Given the description of an element on the screen output the (x, y) to click on. 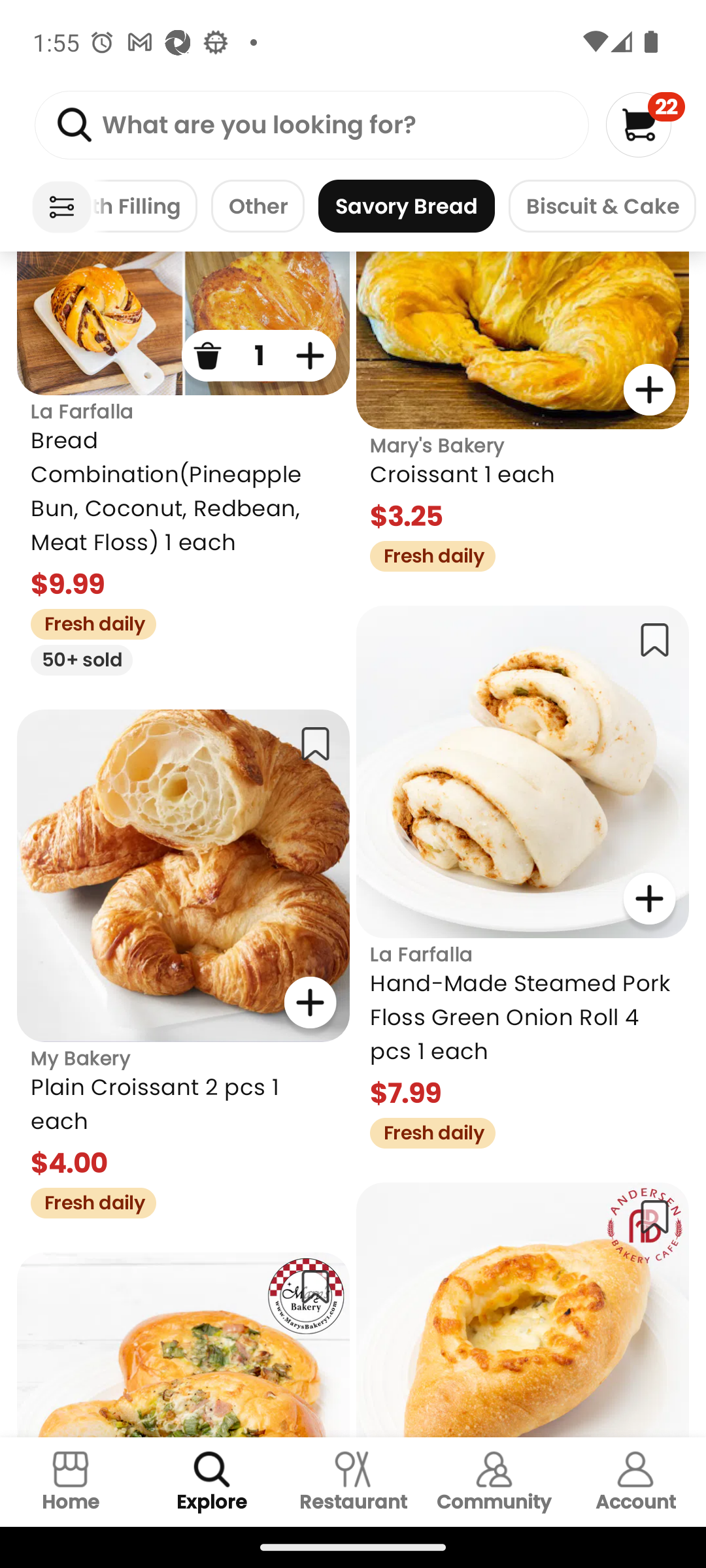
What are you looking for? (311, 124)
22 (644, 124)
With Filling (144, 206)
Other (257, 206)
Savory Bread (406, 206)
Biscuit & Cake (602, 206)
Mary's Bakery Croissant 1 each $3.25 Fresh daily (522, 411)
Fresh daily (425, 554)
Fresh daily (86, 621)
Fresh daily (425, 1130)
Fresh daily (86, 1200)
Home (70, 1482)
Explore (211, 1482)
Restaurant (352, 1482)
Community (493, 1482)
Account (635, 1482)
